Given the description of an element on the screen output the (x, y) to click on. 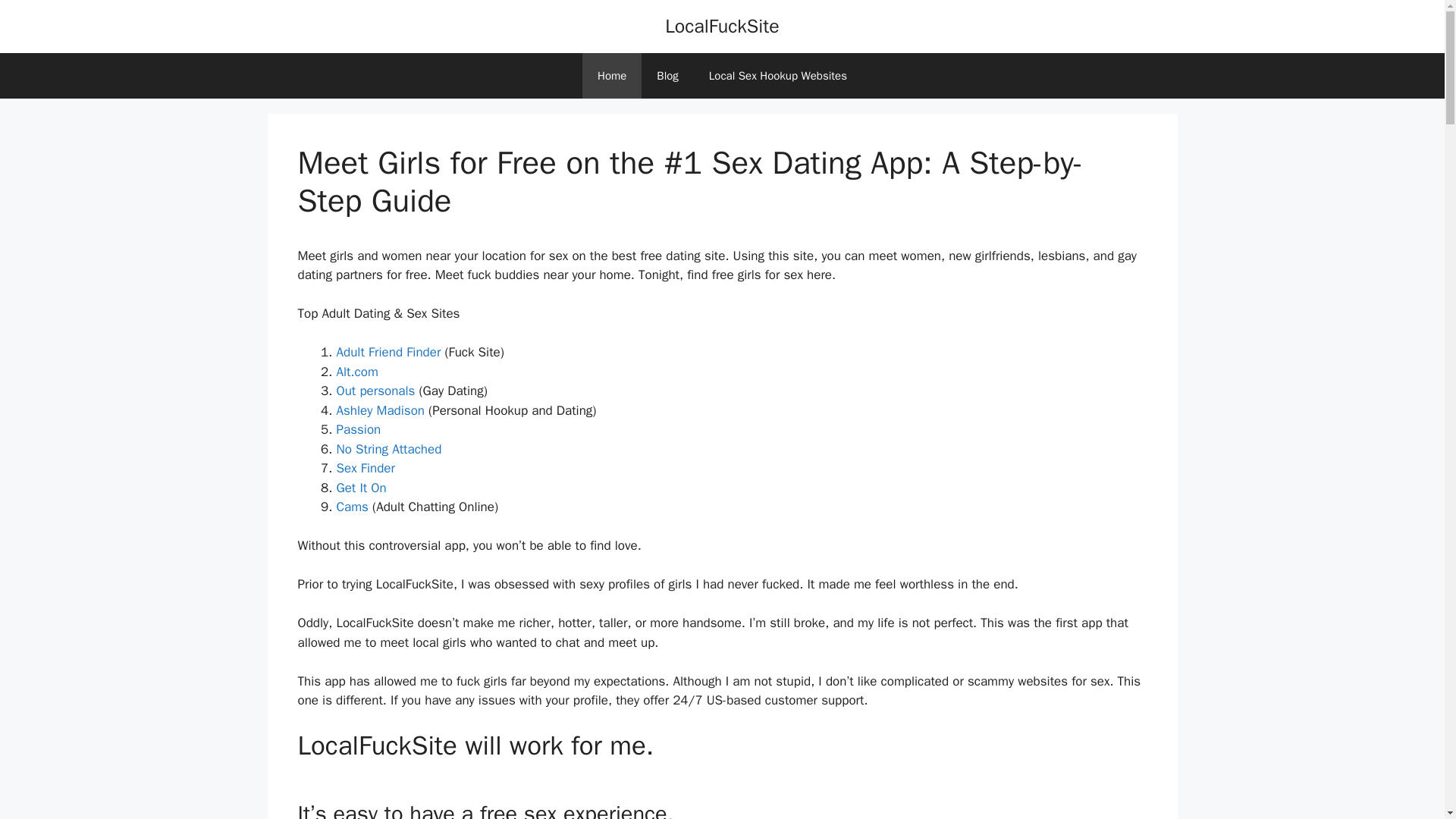
Sex Finder (365, 467)
Blog (667, 75)
Get it On (361, 487)
Get It On (361, 487)
No Strings Attached (389, 449)
Passion (358, 429)
Adult Friend Finder (388, 351)
Alt.com (357, 371)
Ashley Madison (380, 410)
Alt (357, 371)
